Given the description of an element on the screen output the (x, y) to click on. 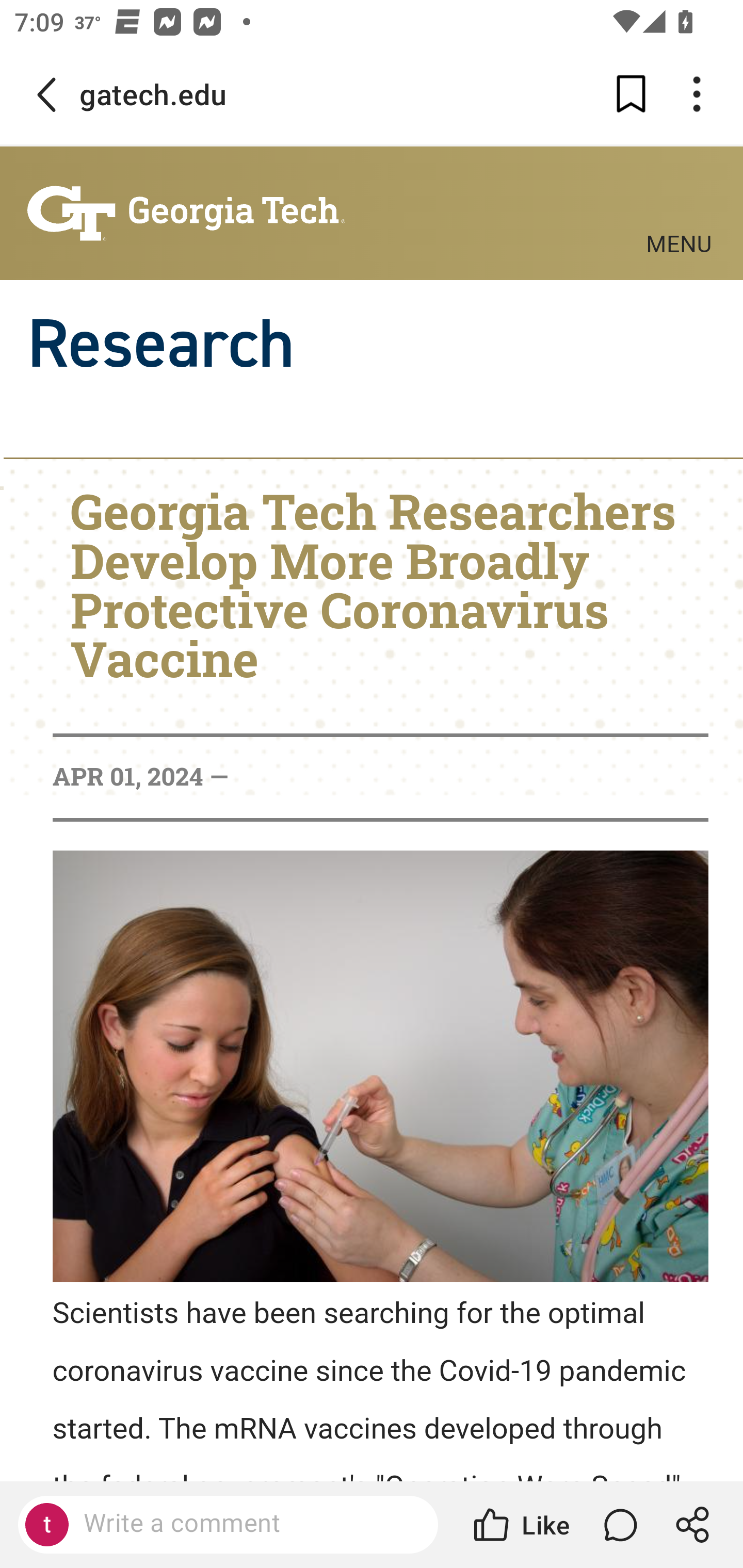
Toggle navigation (679, 202)
Georgia Institute of Technology (185, 213)
Research Research Research (371, 343)
Research (160, 343)
Like (519, 1524)
Write a comment (245, 1523)
